Given the description of an element on the screen output the (x, y) to click on. 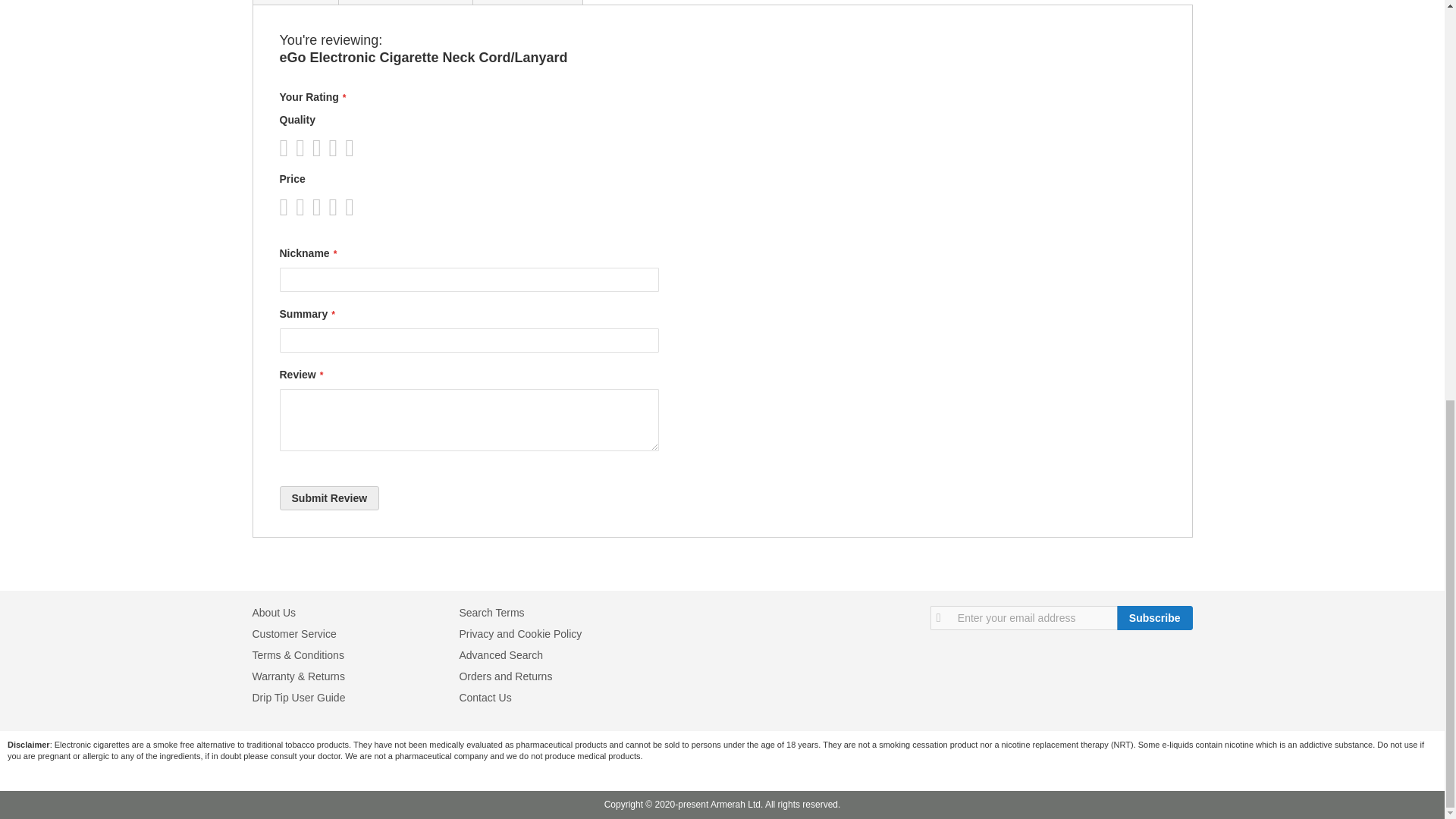
2 stars (295, 147)
2 stars (295, 206)
5 stars (320, 147)
3 stars (304, 147)
4 stars (312, 147)
Subscribe (1154, 617)
5 stars (320, 206)
